Given the description of an element on the screen output the (x, y) to click on. 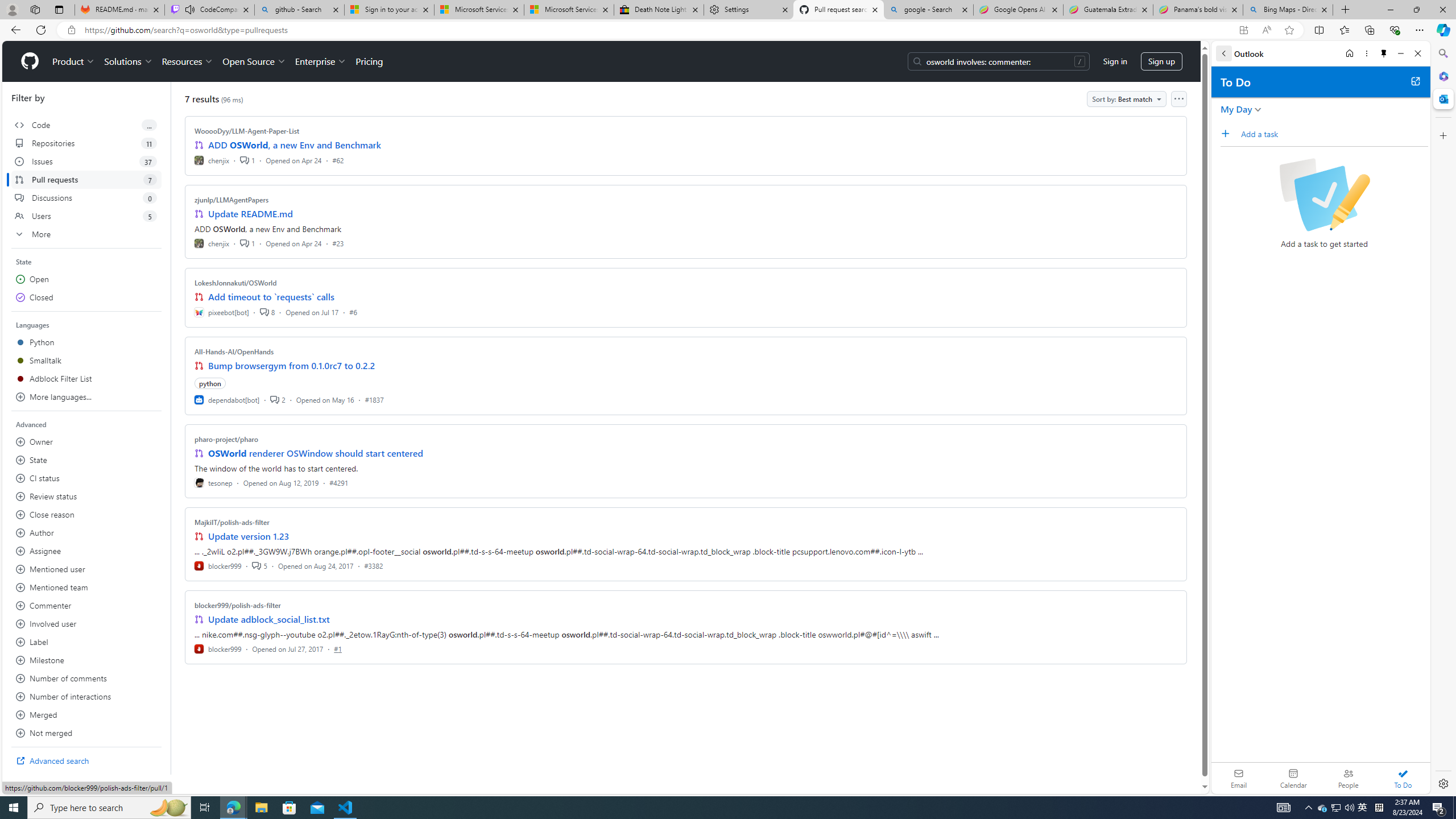
github - Search (298, 9)
Open Source (254, 60)
pharo-project/pharo (226, 438)
Resources (187, 60)
Pricing (368, 60)
Enterprise (319, 60)
